Given the description of an element on the screen output the (x, y) to click on. 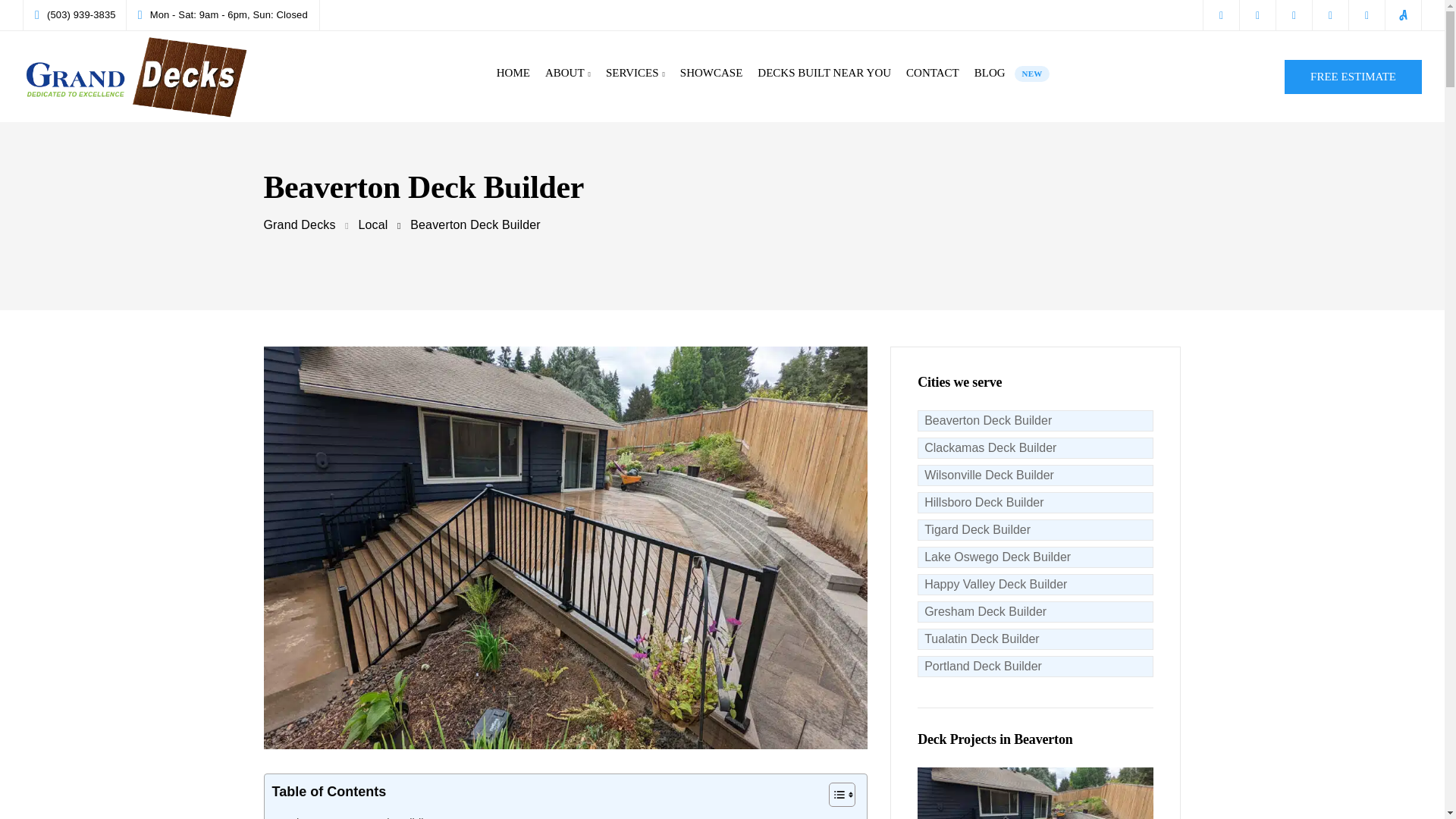
Go to Local. (372, 224)
Go to Grand Decks. (299, 224)
Need a Beaverton Deck Building Company? (1012, 73)
DECKS BUILT NEAR YOU (382, 816)
SERVICES (823, 73)
FREE ESTIMATE (635, 73)
Grand Decks (1353, 75)
CONTACT (299, 224)
Beaverton Deck Builder 2 (932, 73)
